Given the description of an element on the screen output the (x, y) to click on. 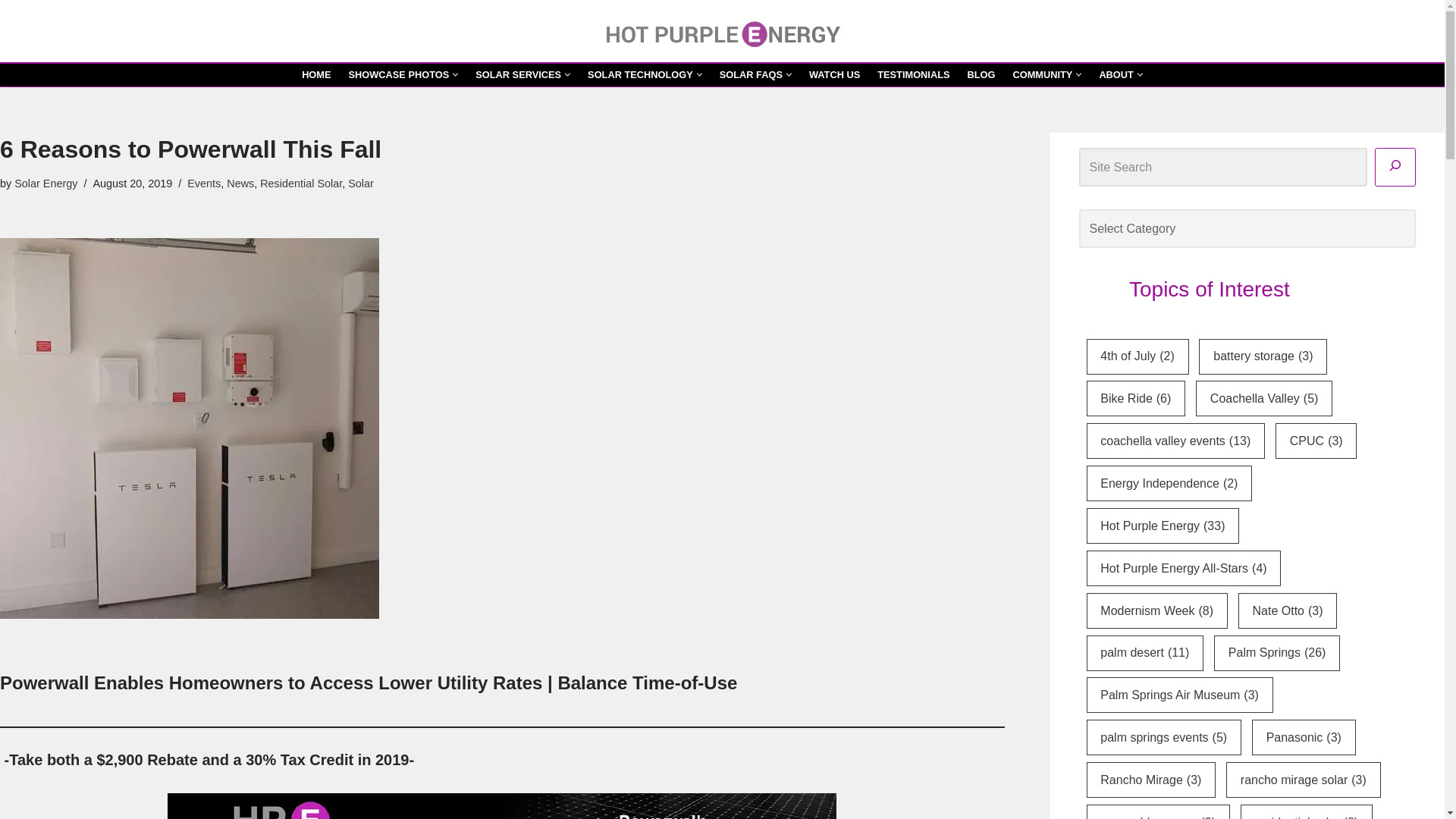
HOME (315, 74)
SHOWCASE PHOTOS (399, 74)
COMMUNITY (1041, 74)
WATCH US (834, 74)
TESTIMONIALS (913, 74)
Posts by Solar Energy (45, 183)
Skip to content (11, 31)
SOLAR FAQS (751, 74)
BLOG (981, 74)
SOLAR SERVICES (518, 74)
